Given the description of an element on the screen output the (x, y) to click on. 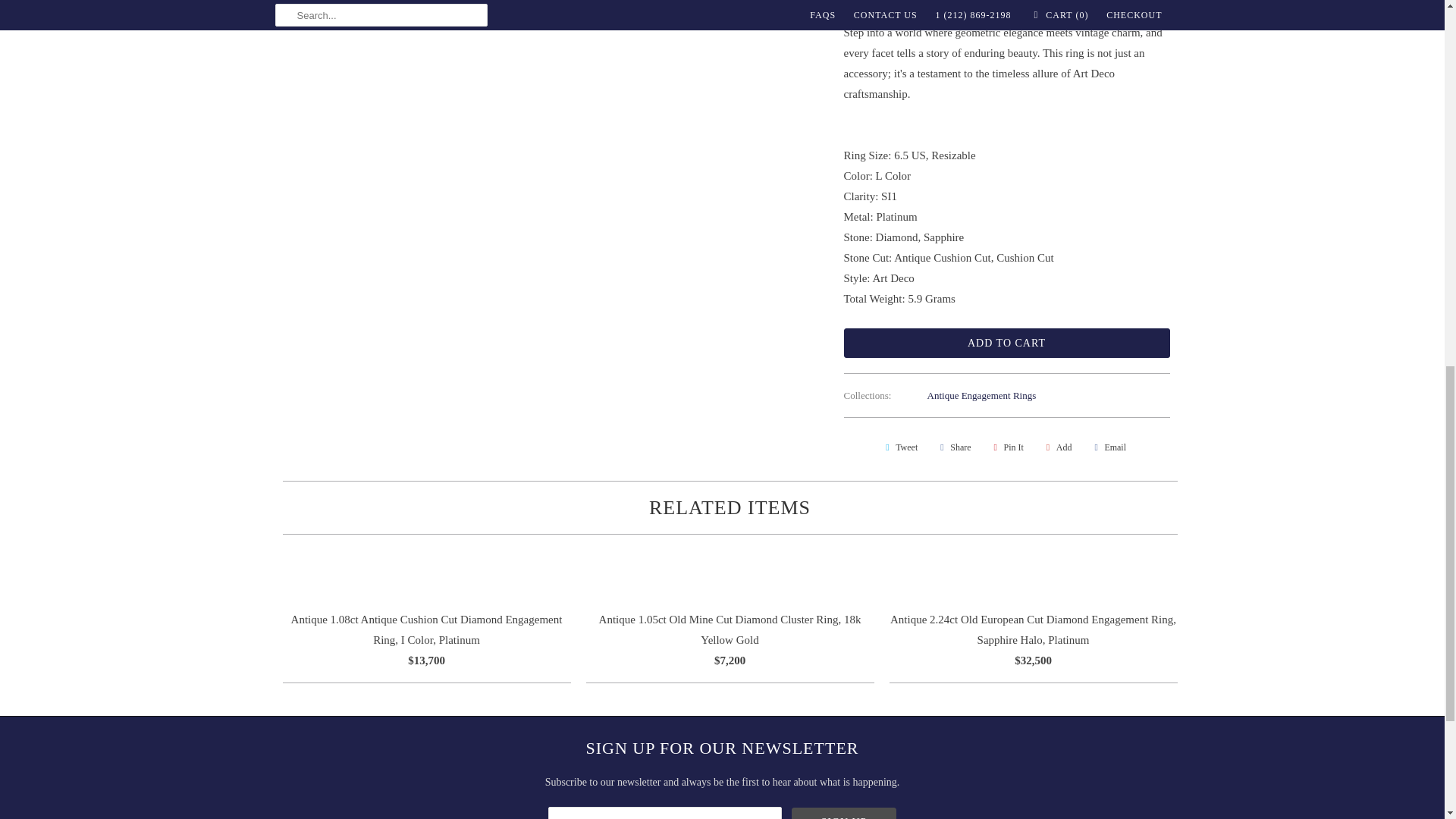
Share this on Twitter (898, 446)
Share this on Pinterest (1005, 446)
ADD TO CART (1006, 342)
Share this on Facebook (953, 446)
Browse Antique Engagement Rings (981, 395)
Antique Engagement Rings (981, 395)
Email this to a friend (1107, 446)
Sign Up (844, 813)
